Given the description of an element on the screen output the (x, y) to click on. 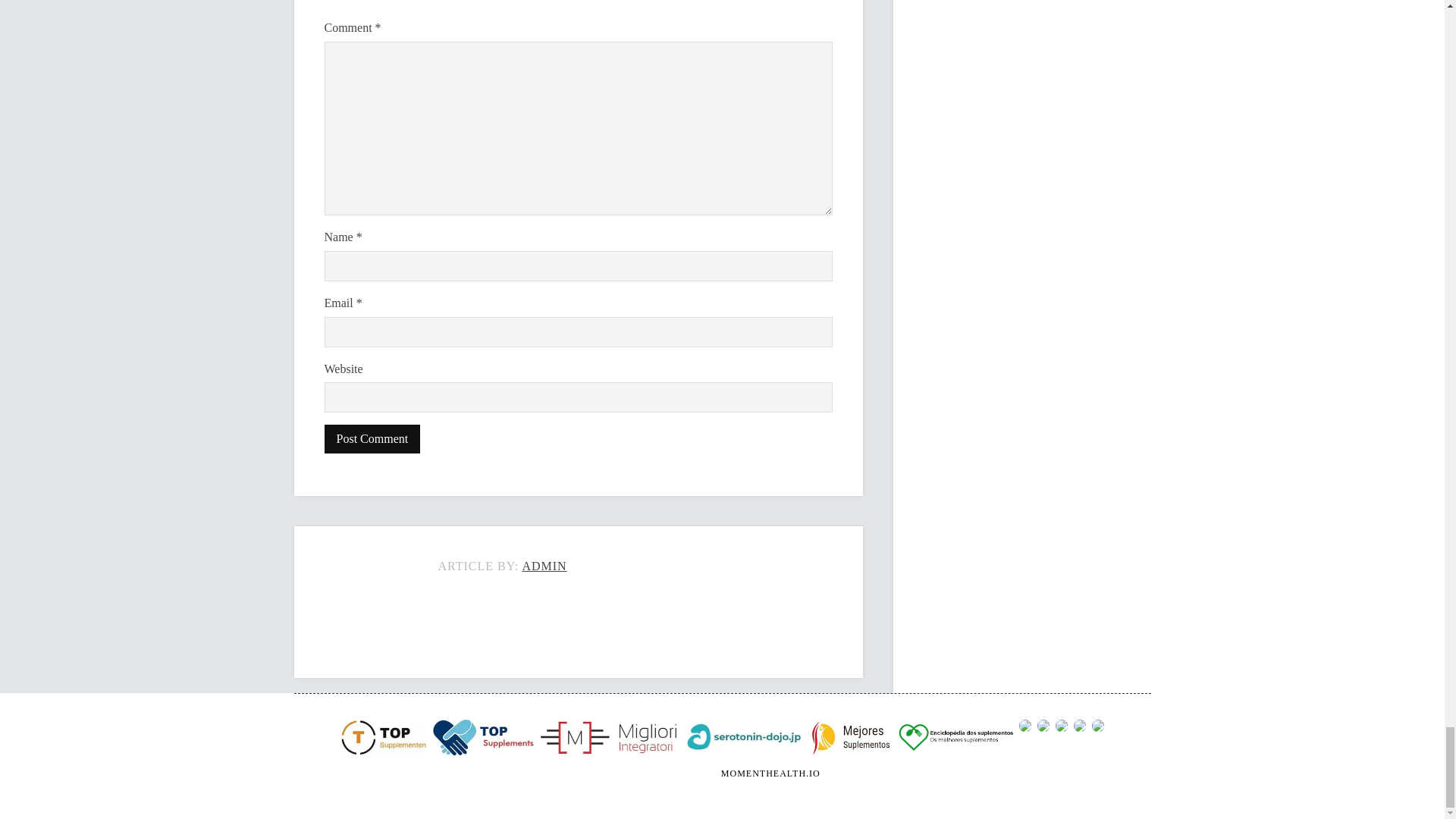
Post Comment (372, 439)
